Given the description of an element on the screen output the (x, y) to click on. 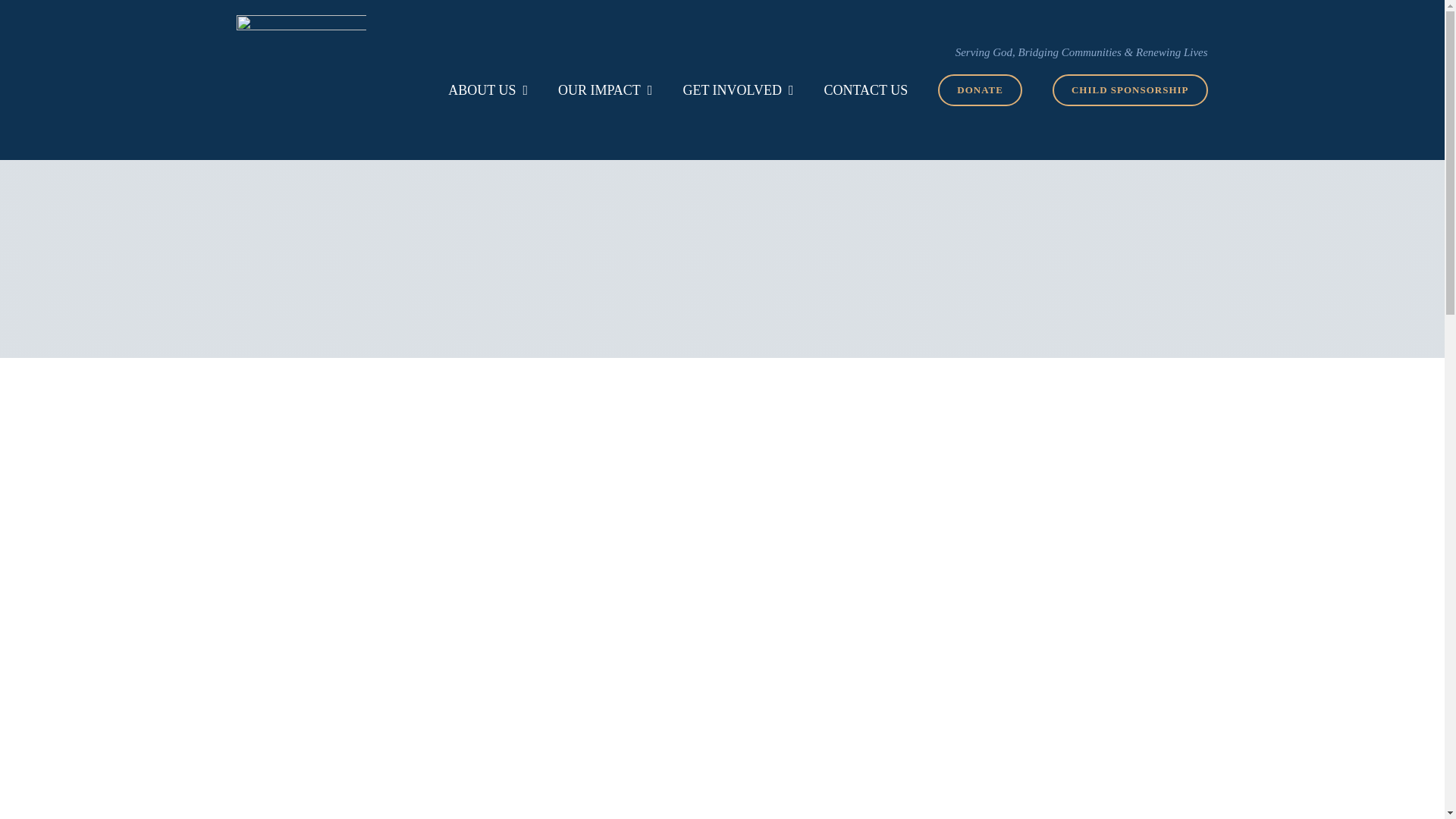
OUR IMPACT (604, 90)
GET INVOLVED (737, 90)
ABOUT US (487, 90)
